Given the description of an element on the screen output the (x, y) to click on. 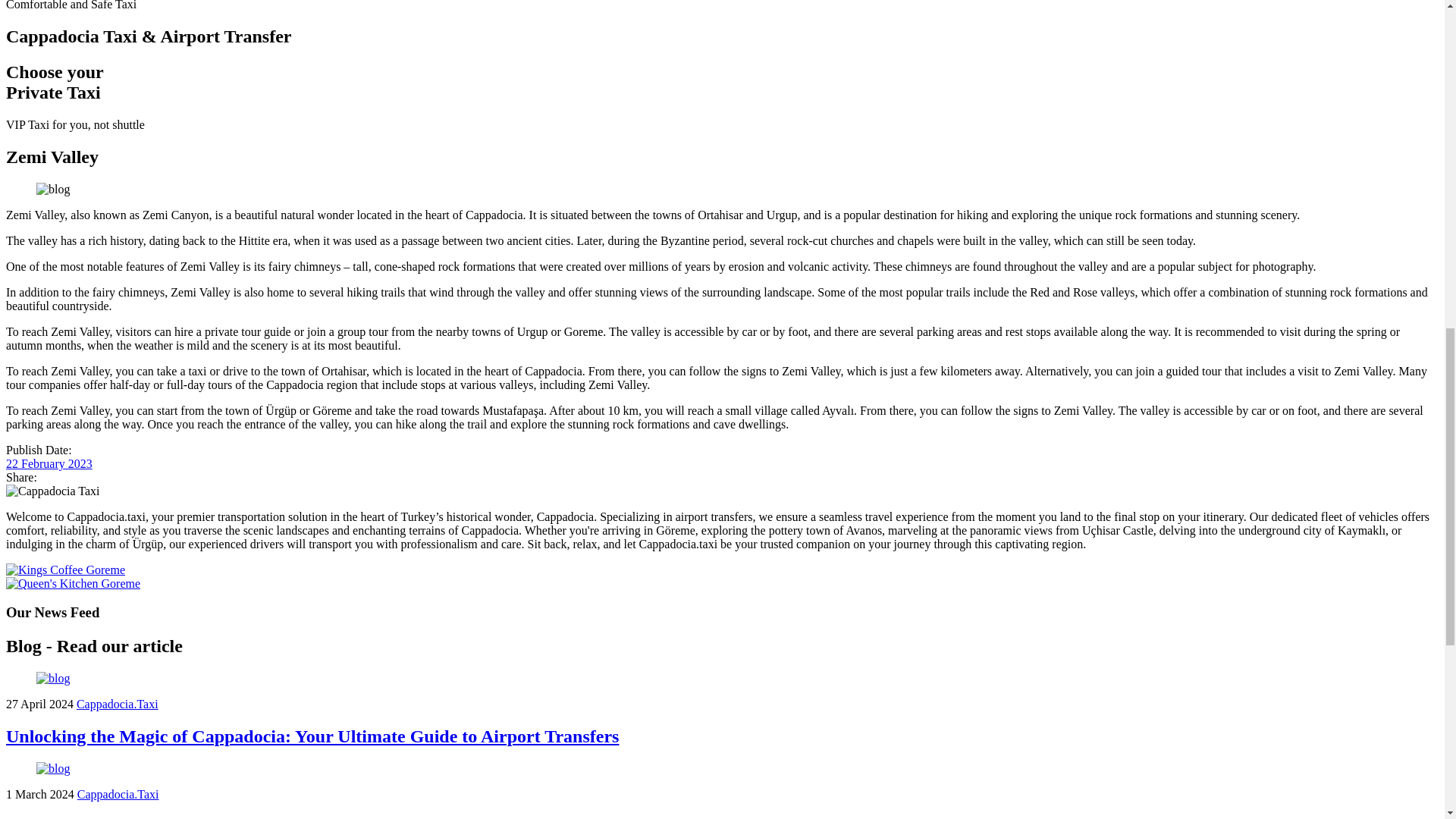
Cappadocia.Taxi (117, 793)
Cappadocia.Taxi (117, 703)
22 February 2023 (49, 463)
